Given the description of an element on the screen output the (x, y) to click on. 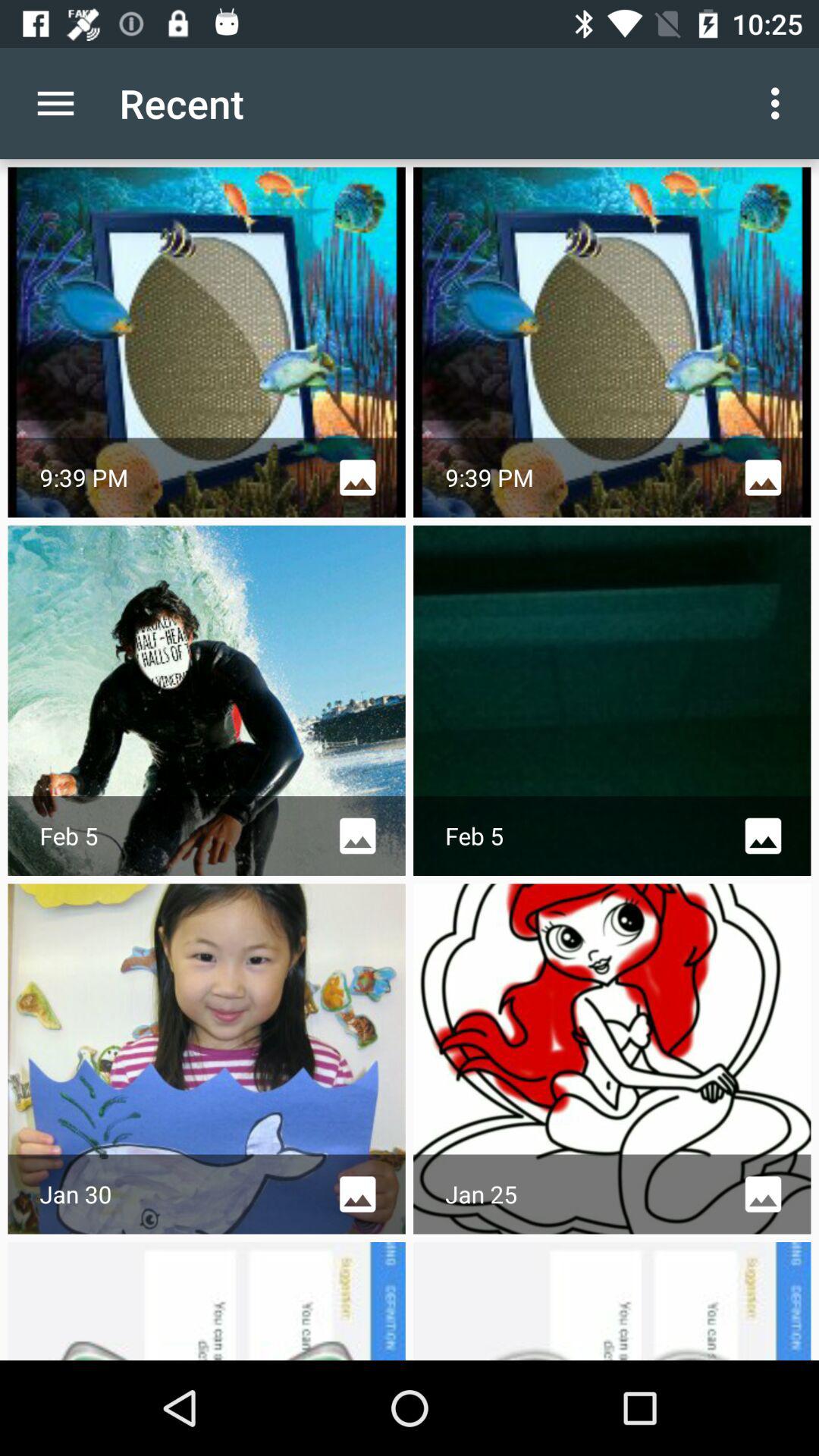
turn on the icon next to the recent icon (779, 103)
